Given the description of an element on the screen output the (x, y) to click on. 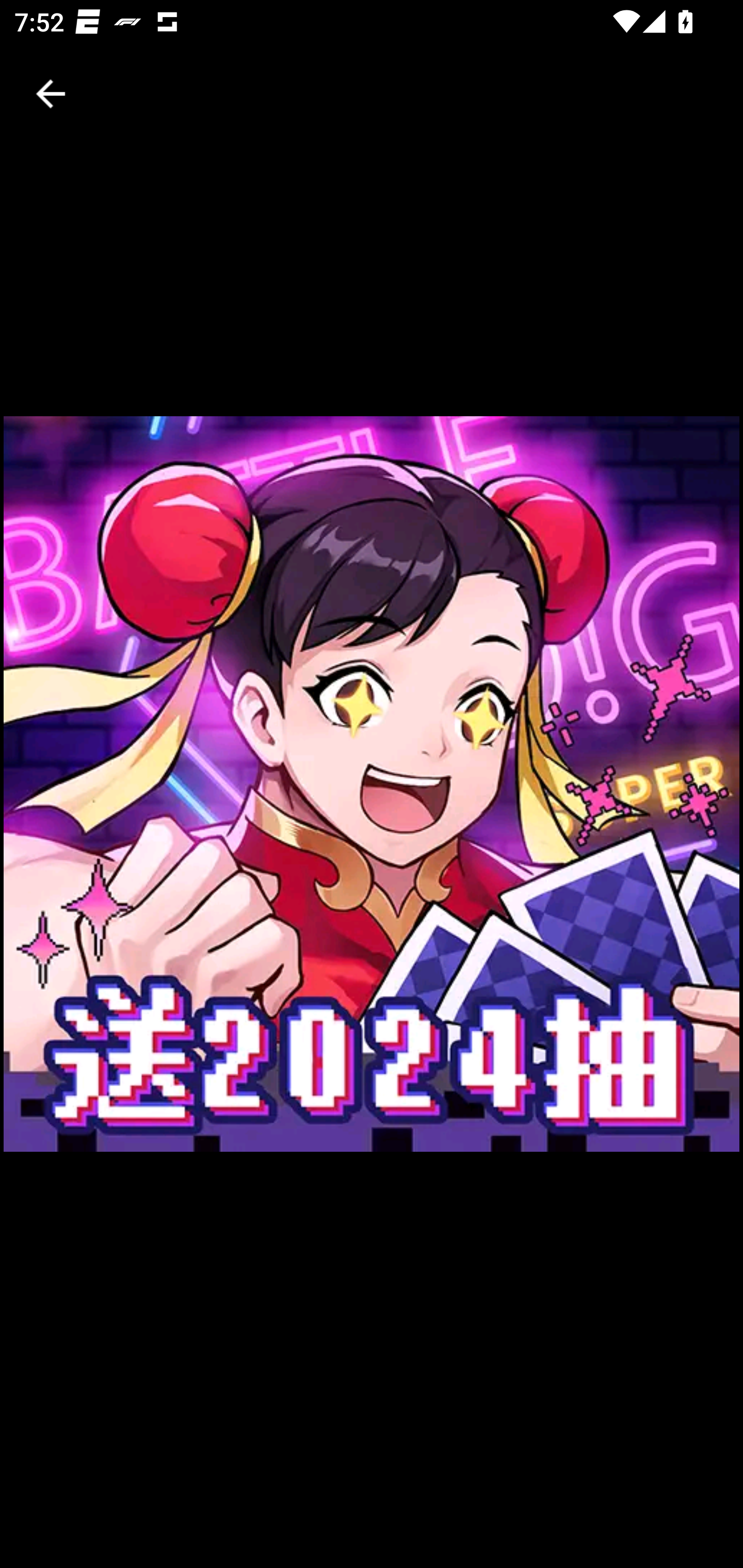
Back (50, 93)
